Given the description of an element on the screen output the (x, y) to click on. 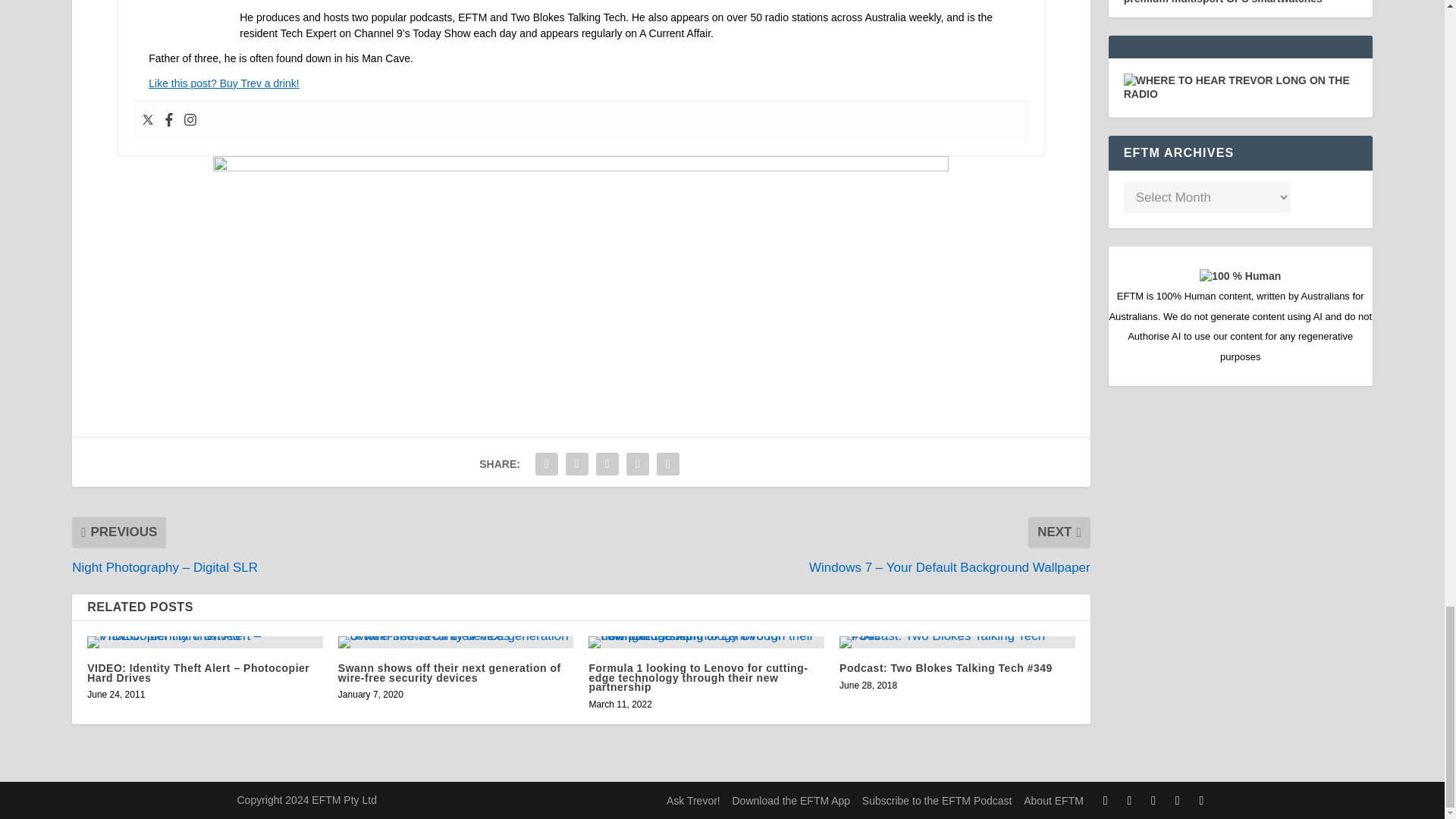
Like this post? Buy Trev a drink! (223, 82)
